Given the description of an element on the screen output the (x, y) to click on. 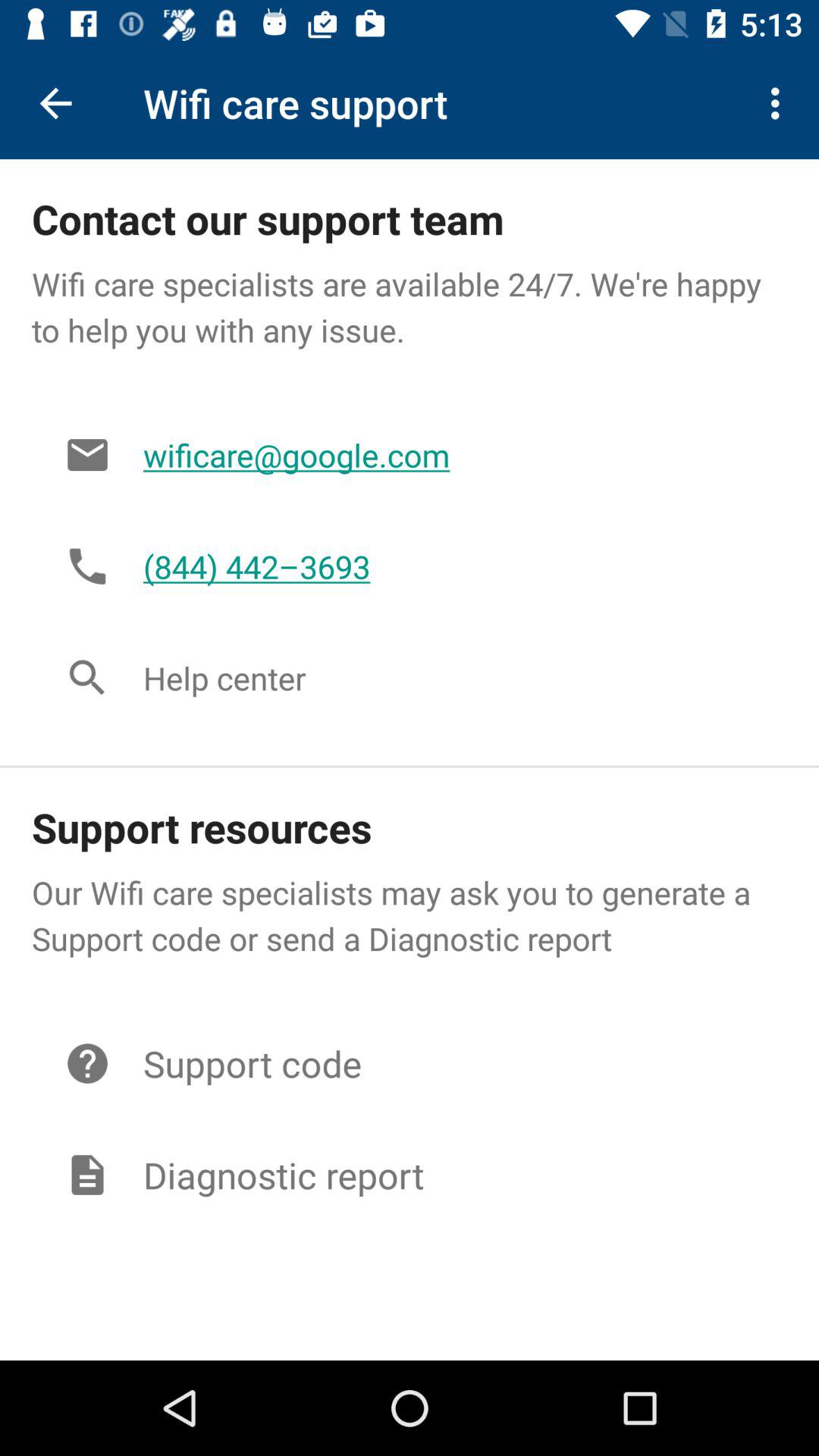
open the icon above help center icon (449, 566)
